Given the description of an element on the screen output the (x, y) to click on. 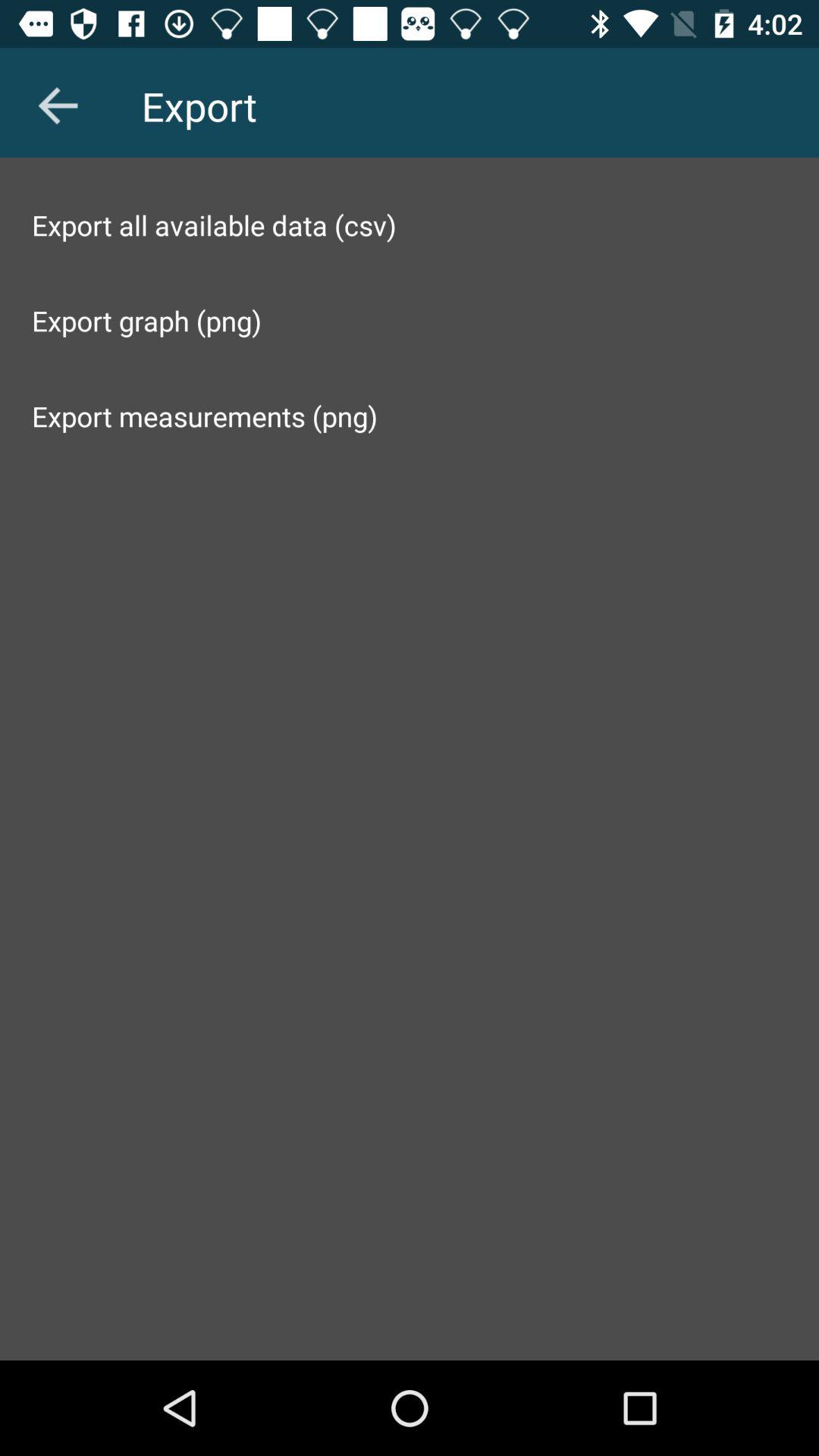
select the icon to the left of the export icon (57, 105)
